Given the description of an element on the screen output the (x, y) to click on. 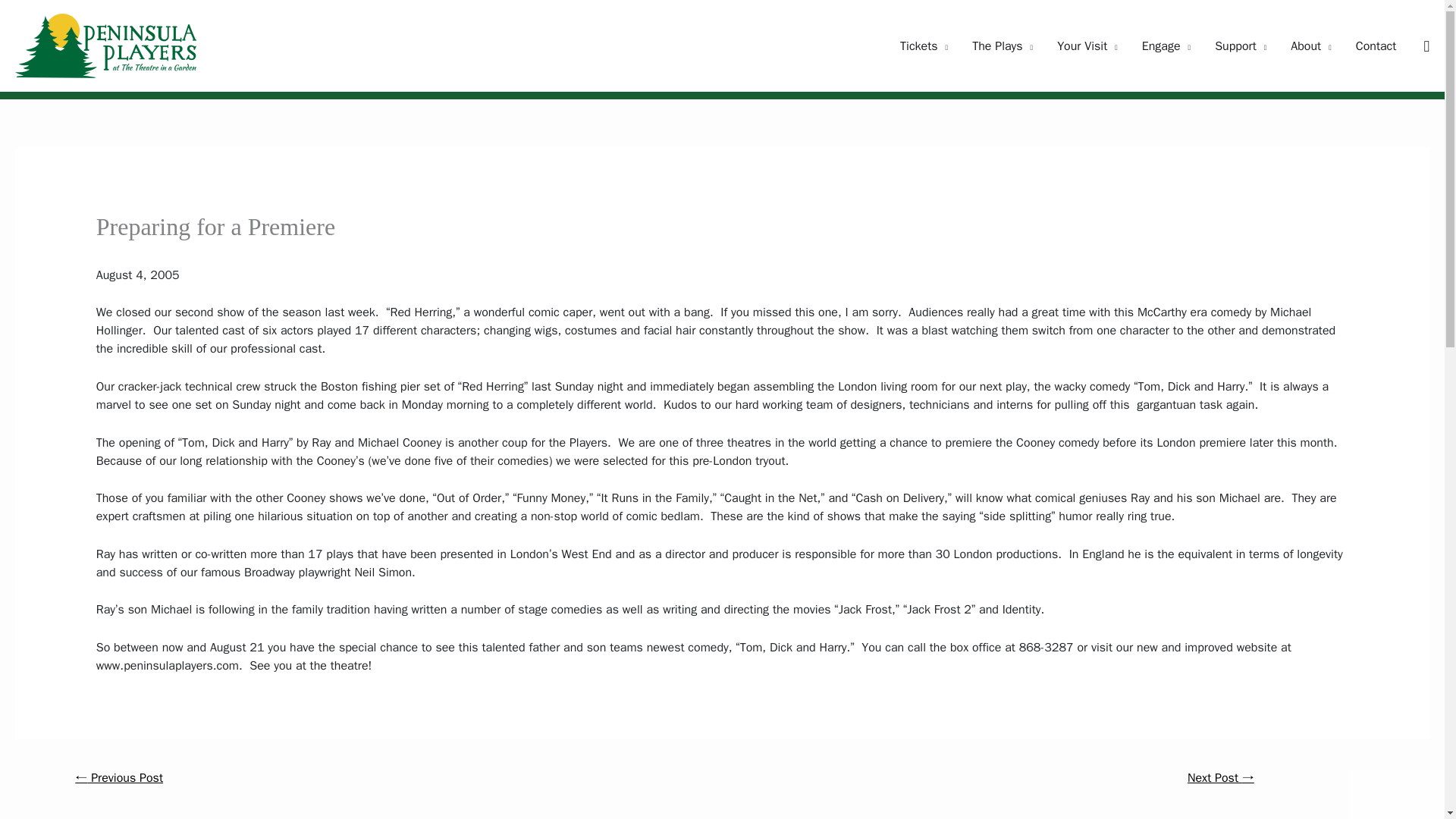
Support (1240, 46)
Tickets (923, 46)
Christmas Comes Early (118, 778)
Engage (1165, 46)
The Plays (1002, 46)
Letting the Intern Step Into the Spotlight (1220, 778)
Your Visit (1087, 46)
